Given the description of an element on the screen output the (x, y) to click on. 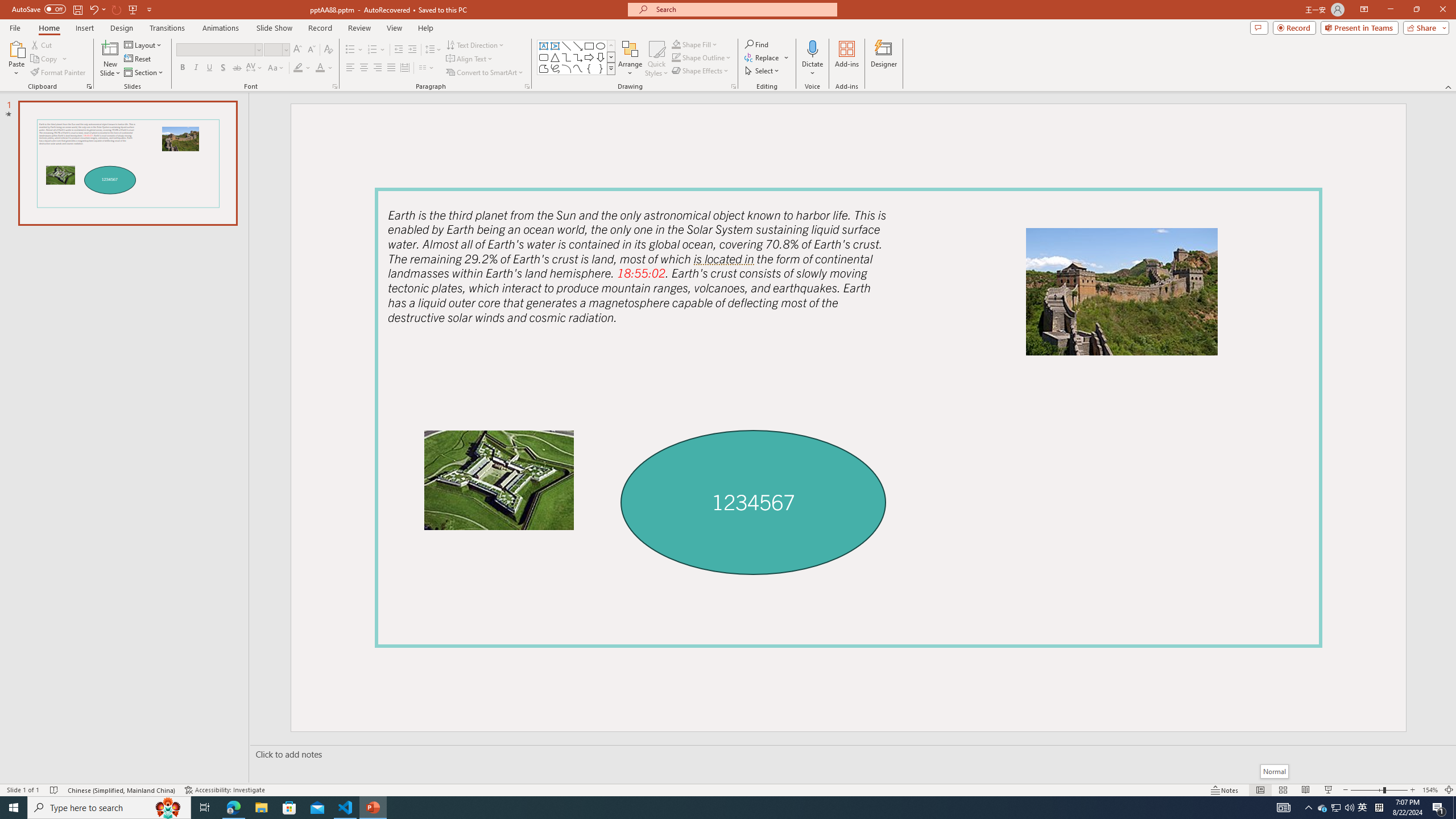
Section (144, 72)
Decrease Font Size (310, 49)
Select (762, 69)
Clear Formatting (327, 49)
Arrow: Down (600, 57)
